Given the description of an element on the screen output the (x, y) to click on. 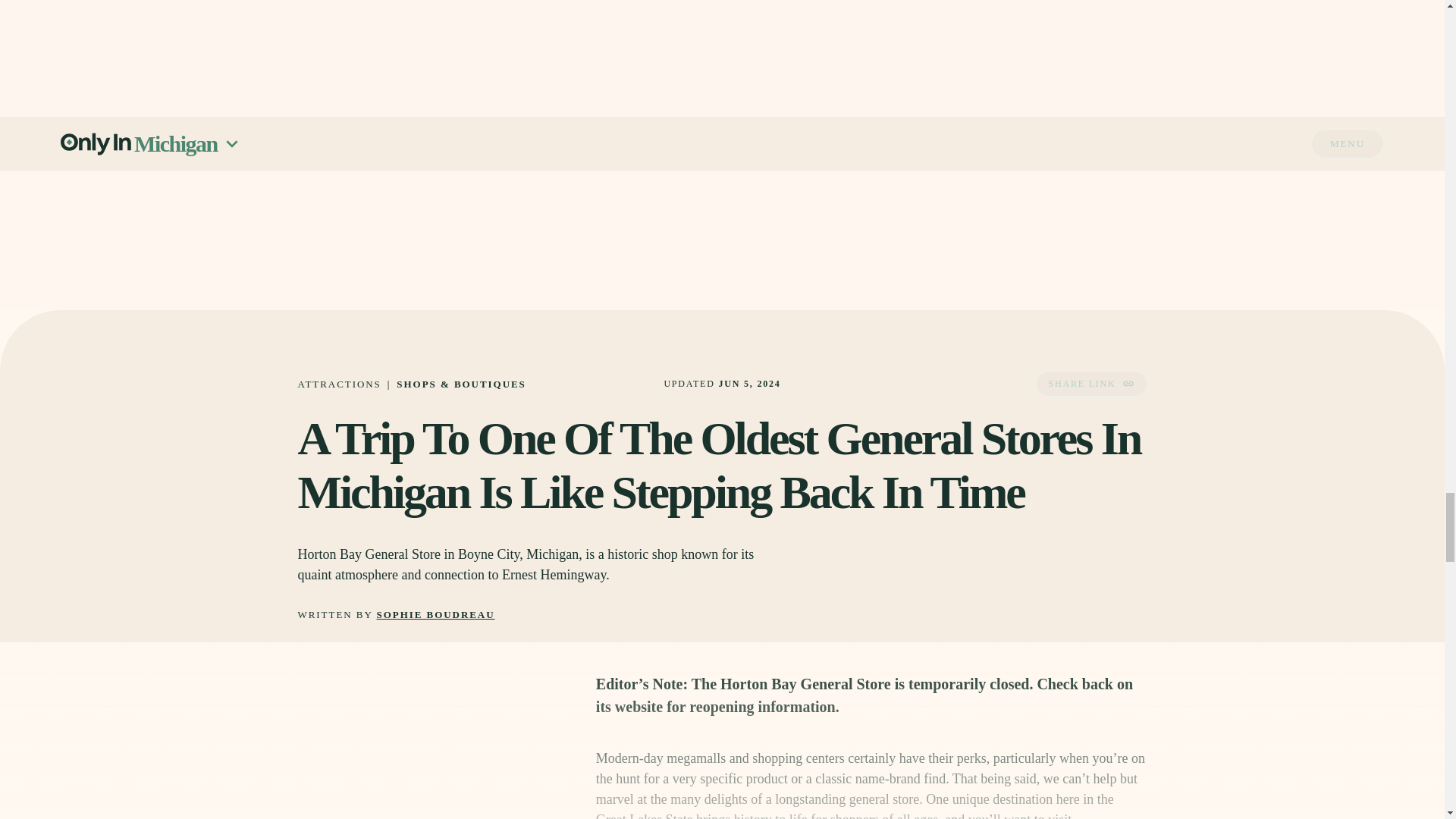
SOPHIE BOUDREAU (436, 614)
ATTRACTIONS (338, 384)
SHARE LINK (1091, 383)
